Given the description of an element on the screen output the (x, y) to click on. 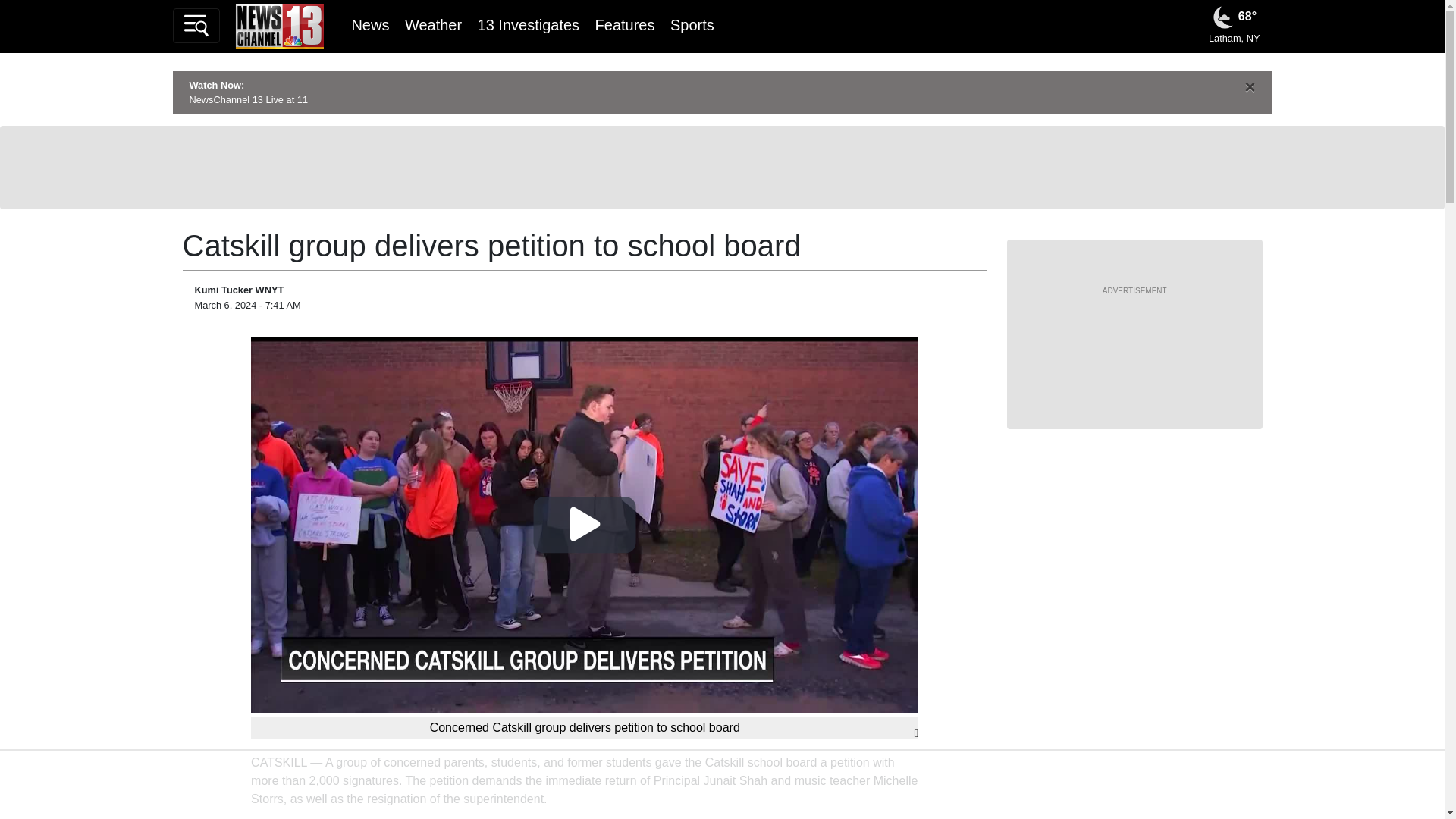
3rd party ad content (721, 167)
13 Investigates (528, 24)
Weather (432, 24)
News (369, 24)
Sports (691, 24)
Features (625, 24)
Play Video (585, 524)
